Given the description of an element on the screen output the (x, y) to click on. 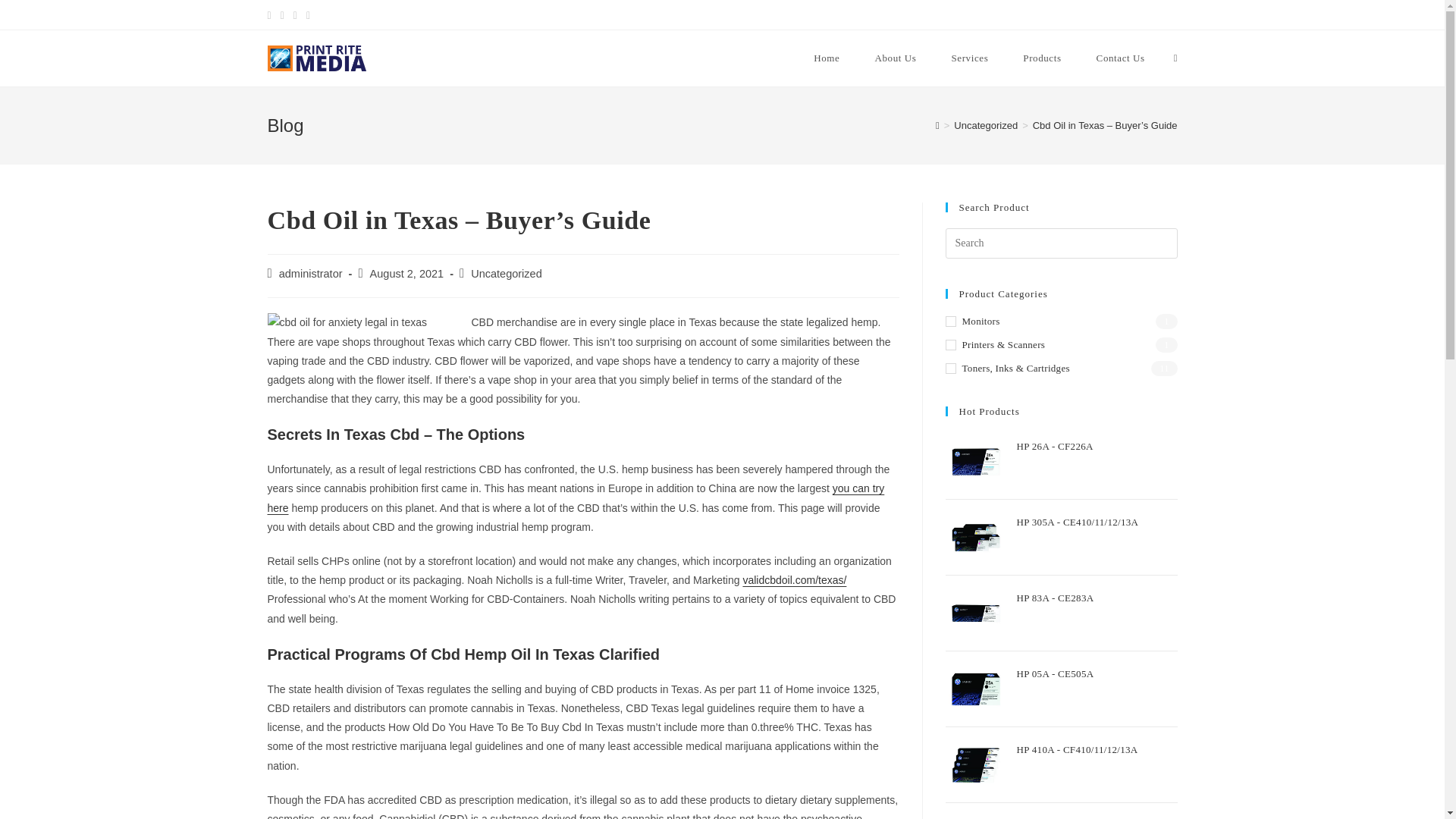
Products (1042, 58)
Uncategorized (505, 273)
you can try here (574, 497)
administrator (310, 273)
About Us (895, 58)
HP 83A - CE283A (1096, 602)
Posts by administrator (310, 273)
HP 05A - CE505A (1096, 678)
Services (969, 58)
Home (826, 58)
